Given the description of an element on the screen output the (x, y) to click on. 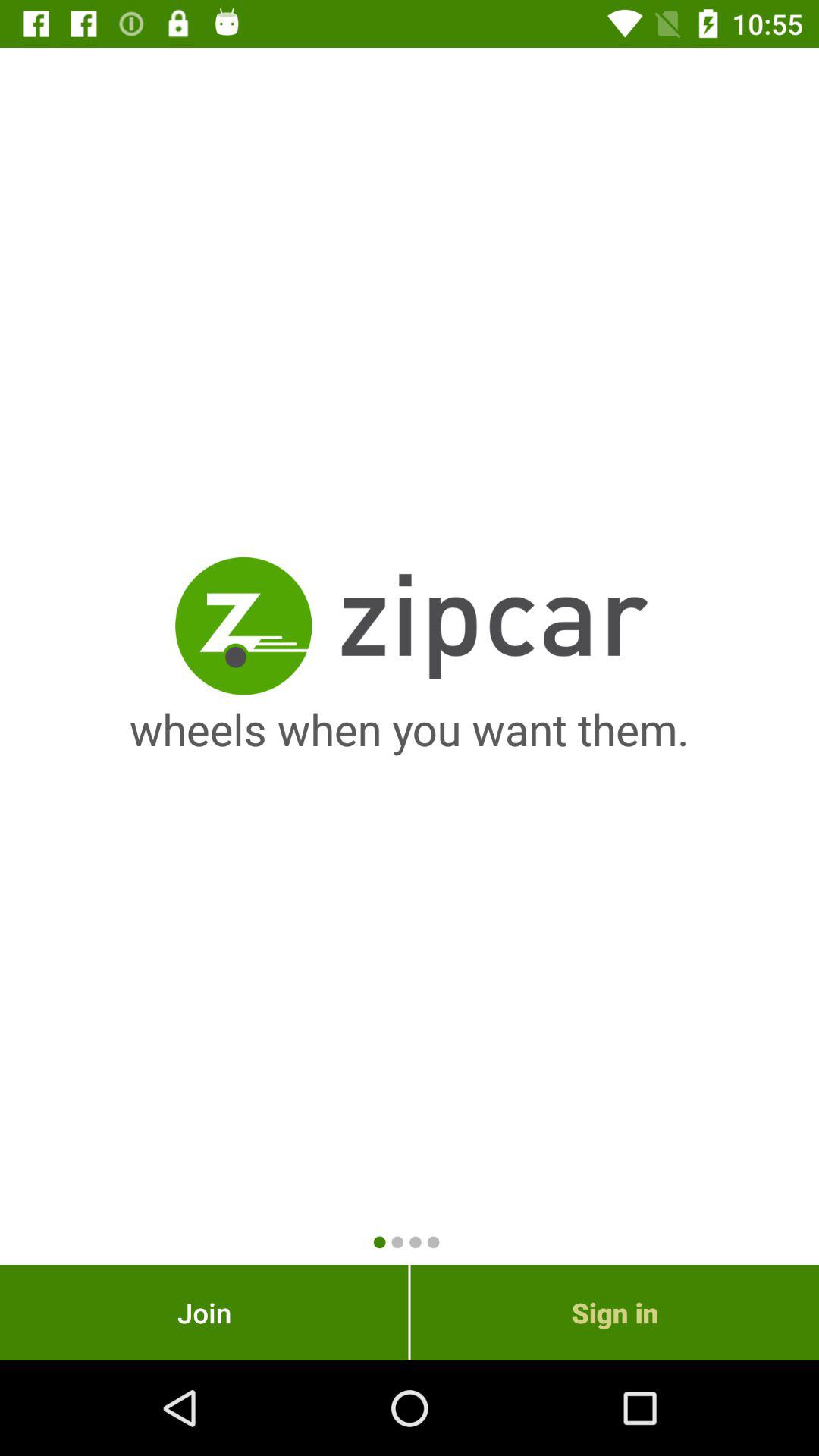
choose item to the left of sign in item (204, 1312)
